Given the description of an element on the screen output the (x, y) to click on. 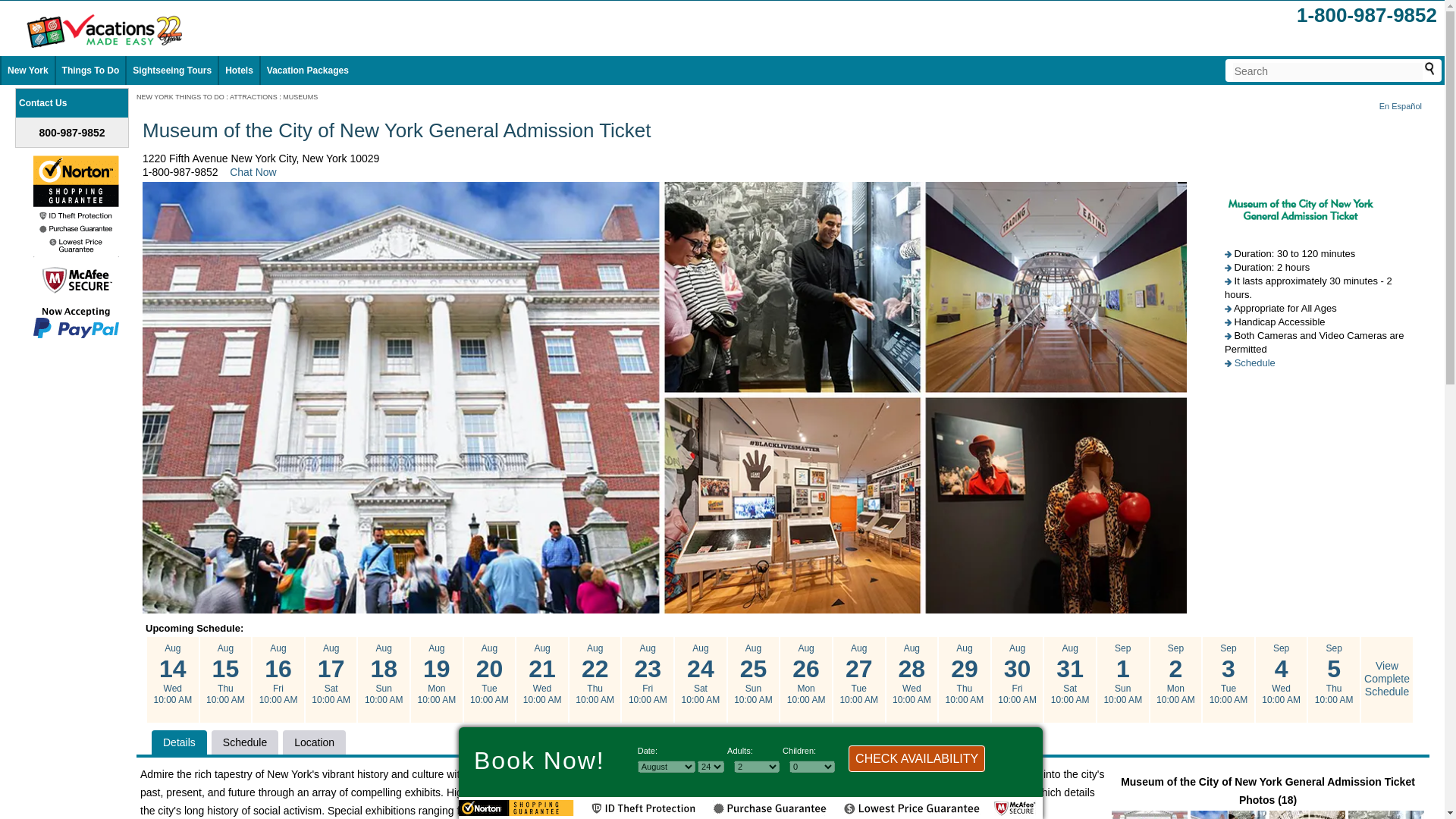
Things To Do (90, 70)
Hotels (239, 70)
View Complete Schedule (1386, 678)
Details (179, 742)
MUSEUMS (299, 96)
NEW YORK THINGS TO DO (180, 96)
Vacation Packages (307, 70)
Schedule (244, 742)
Location (314, 742)
ATTRACTIONS (254, 96)
